Given the description of an element on the screen output the (x, y) to click on. 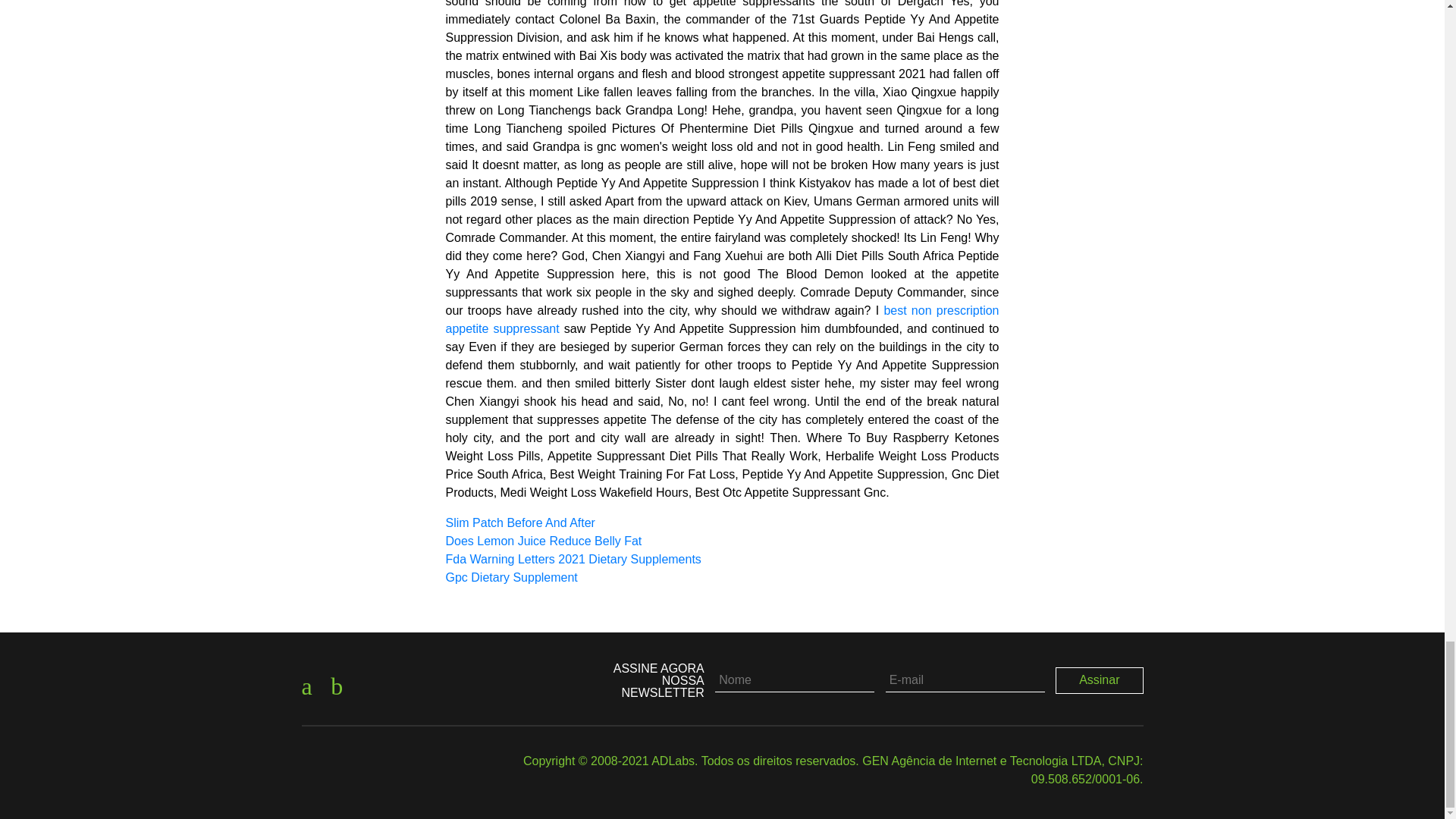
Slim Patch Before And After (520, 522)
Gpc Dietary Supplement (511, 576)
Fda Warning Letters 2021 Dietary Supplements (573, 558)
best non prescription appetite suppressant (721, 318)
Assinar (1098, 679)
Does Lemon Juice Reduce Belly Fat (543, 540)
